Given the description of an element on the screen output the (x, y) to click on. 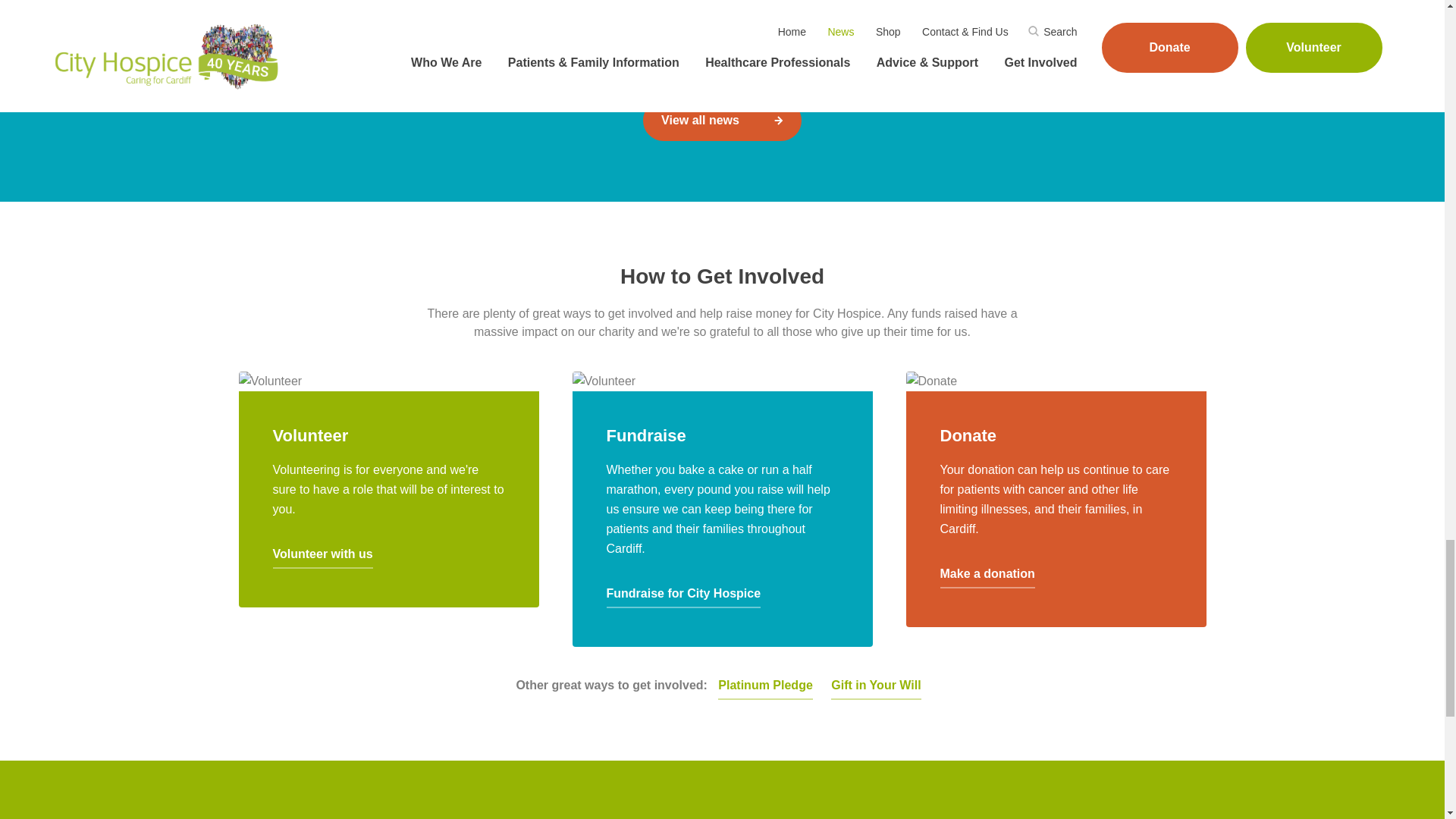
Continue reading (656, 19)
Continue reading (322, 5)
Volunteer with us (322, 556)
Fundraise for City Hospice (684, 595)
